Given the description of an element on the screen output the (x, y) to click on. 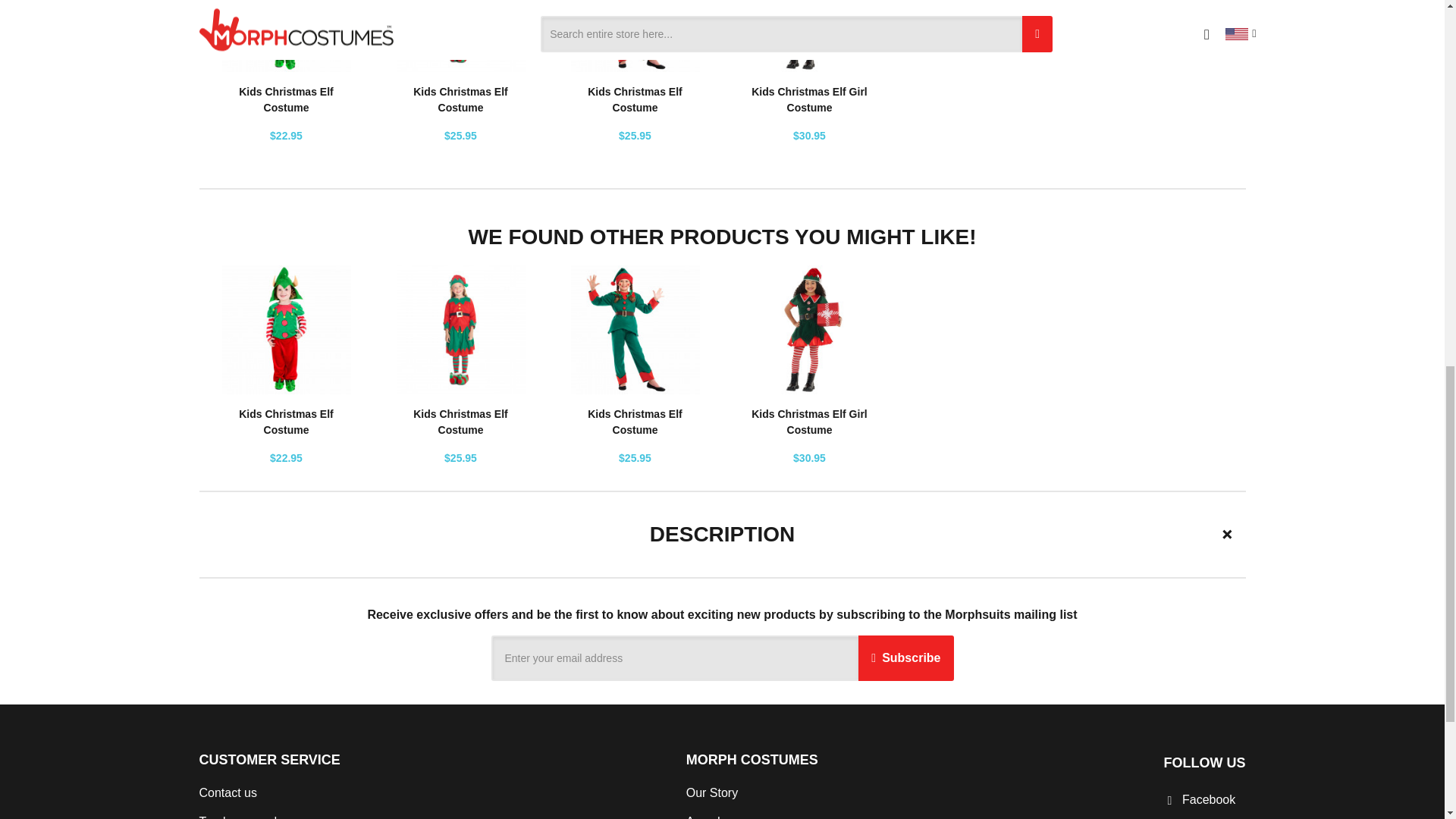
Kids Christmas Elf Girl Costume (808, 99)
Kids Christmas Elf Costume (634, 99)
Kids Christmas Elf Costume (285, 99)
Subscribe (906, 657)
Kids Christmas Elf Costume (459, 99)
Kids Christmas Elf Girl Costume (808, 421)
Kids Christmas Elf Costume (634, 421)
Kids Christmas Elf Costume (285, 421)
Kids Christmas Elf Costume (459, 421)
